Given the description of an element on the screen output the (x, y) to click on. 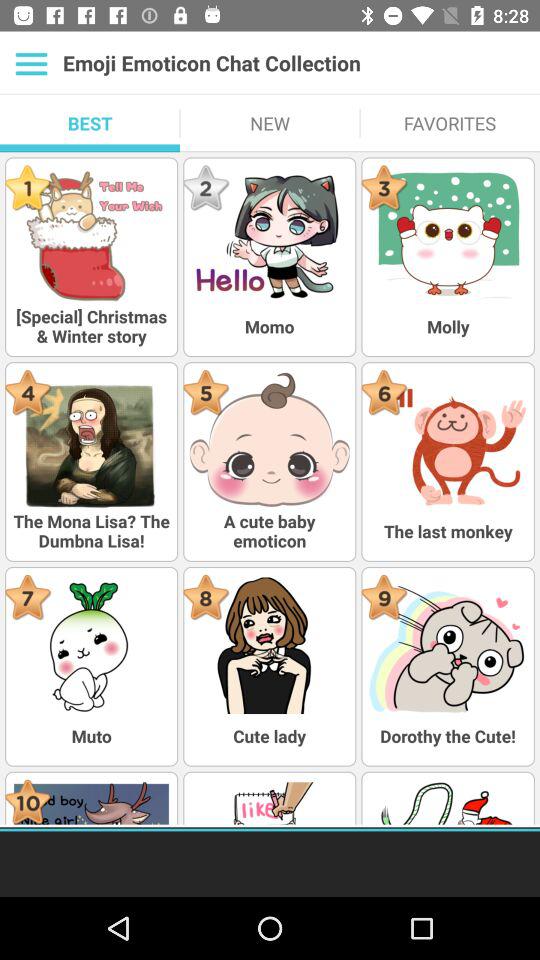
turn off the icon next to new (90, 123)
